Given the description of an element on the screen output the (x, y) to click on. 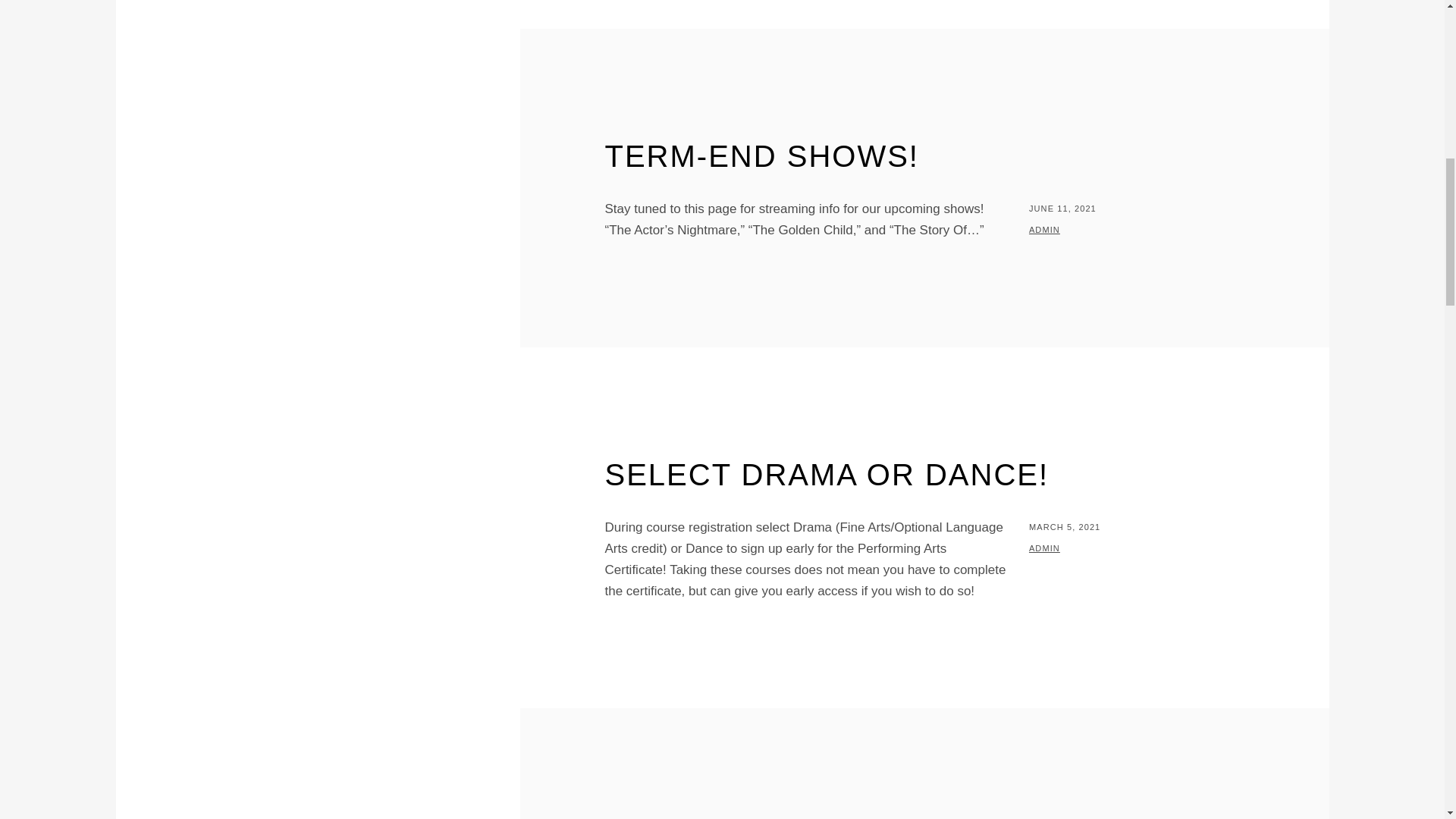
ADMIN (1044, 547)
TERM-END SHOWS! (761, 155)
SELECT DRAMA OR DANCE! (827, 474)
ADMIN (1044, 229)
